Given the description of an element on the screen output the (x, y) to click on. 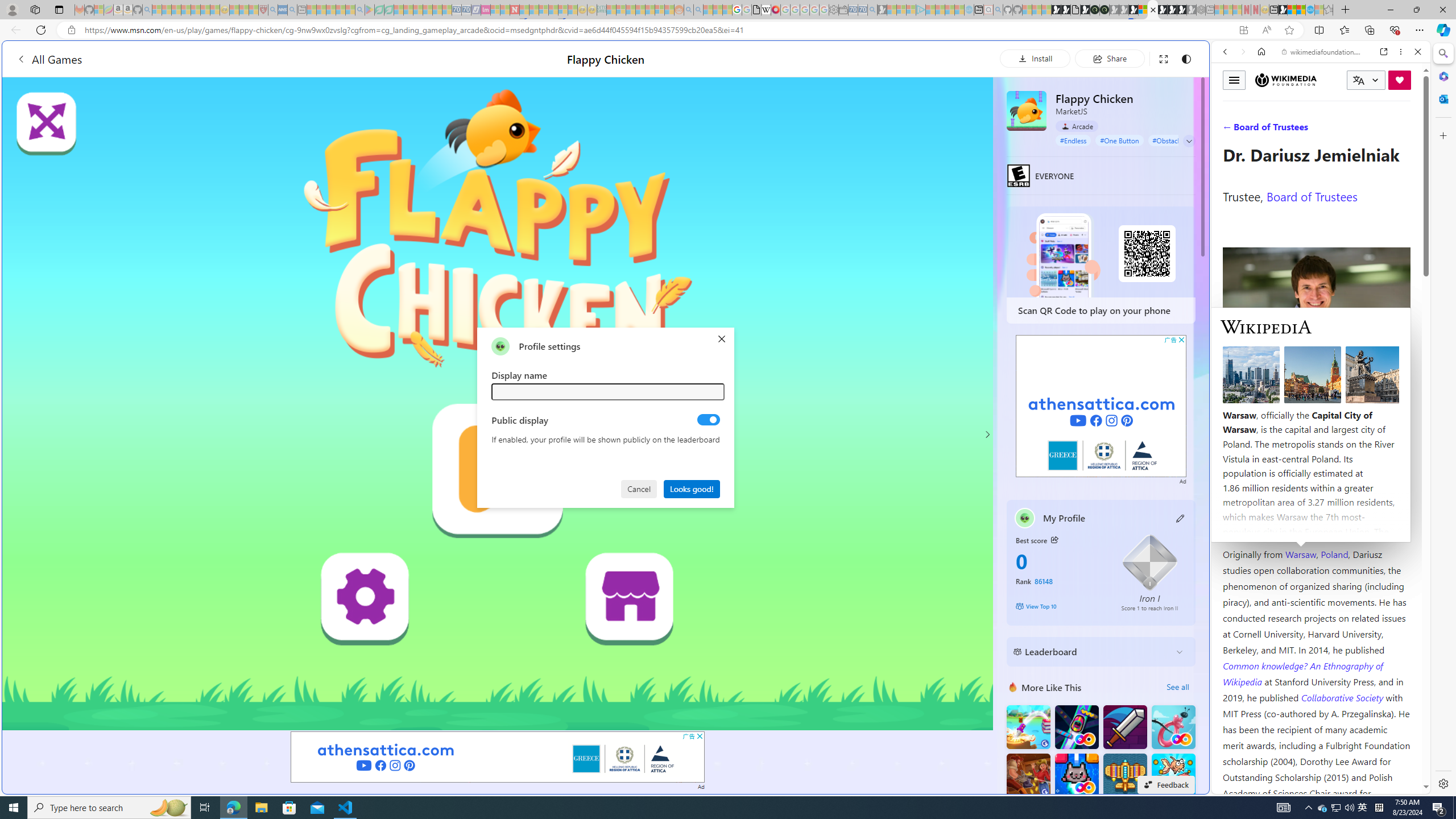
github - Search - Sleeping (997, 9)
This site scope (1259, 102)
google_privacy_policy_zh-CN.pdf (1118, 683)
Kitten Force FRVR (1076, 775)
View Top 10 (1060, 605)
Saloon Robbery (1028, 775)
New tab - Sleeping (1210, 9)
Side bar (1443, 418)
